Given the description of an element on the screen output the (x, y) to click on. 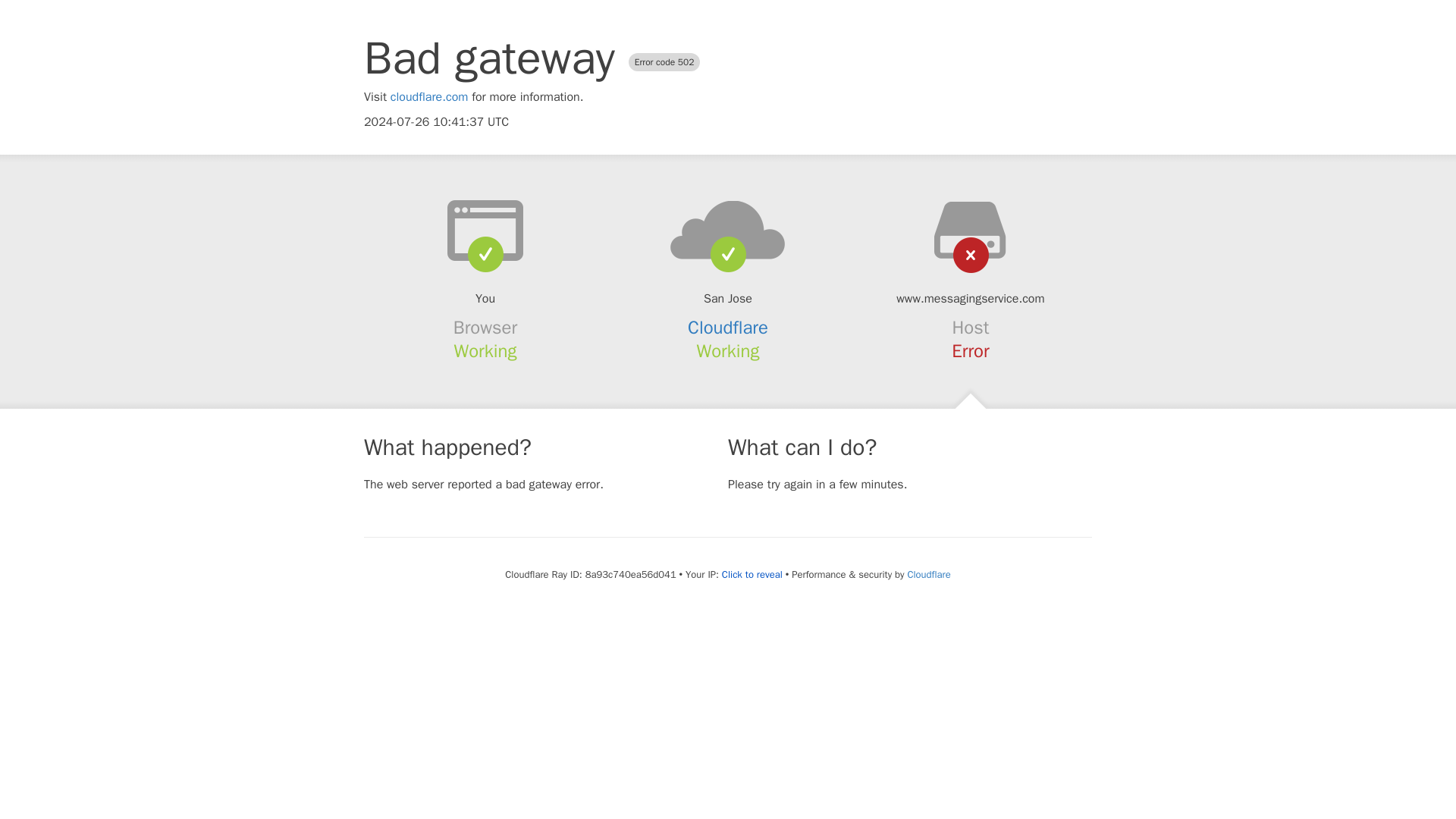
cloudflare.com (429, 96)
Click to reveal (752, 574)
Cloudflare (928, 574)
Cloudflare (727, 327)
